Given the description of an element on the screen output the (x, y) to click on. 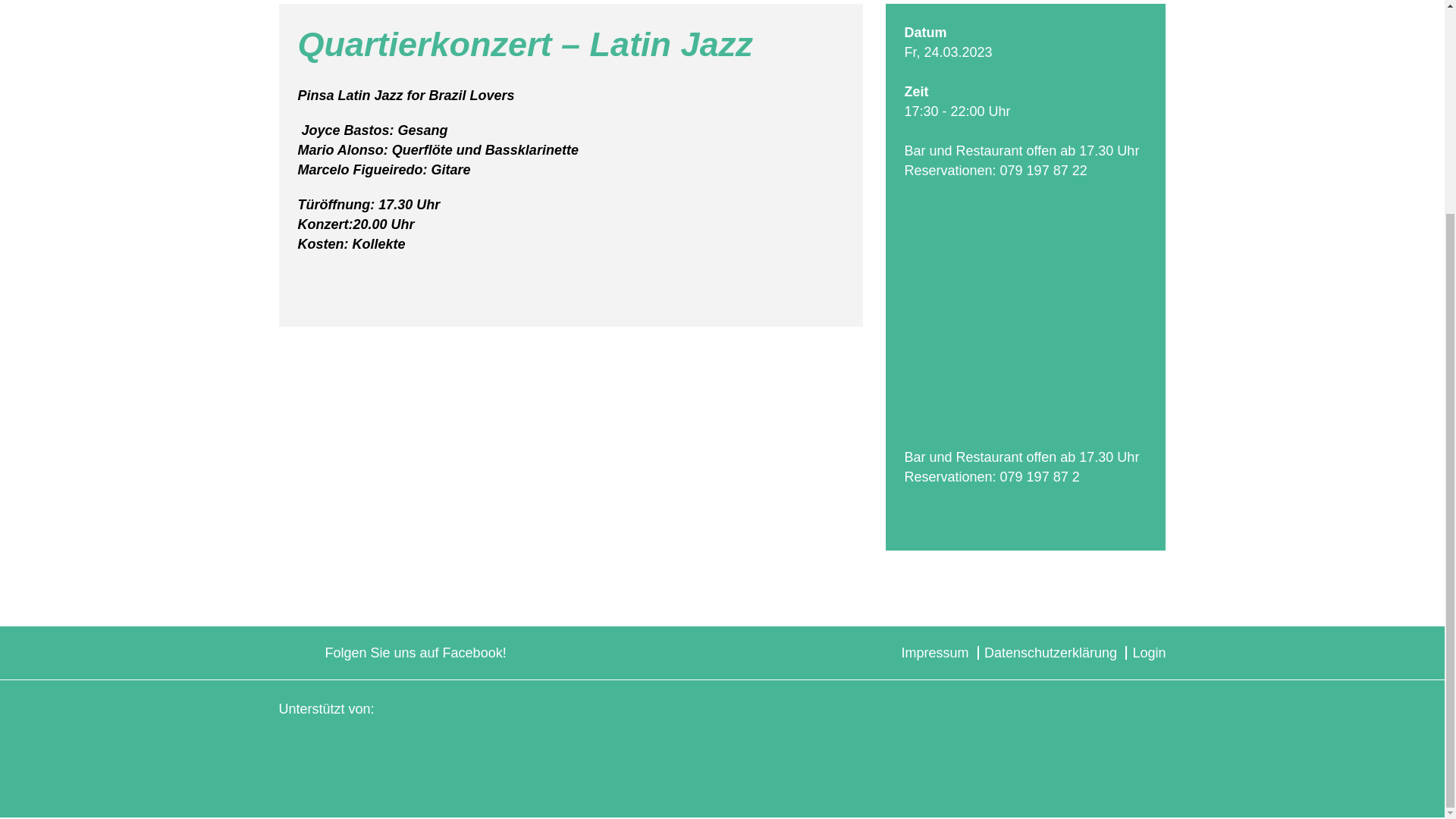
Impressum (934, 652)
Login (1149, 652)
